Given the description of an element on the screen output the (x, y) to click on. 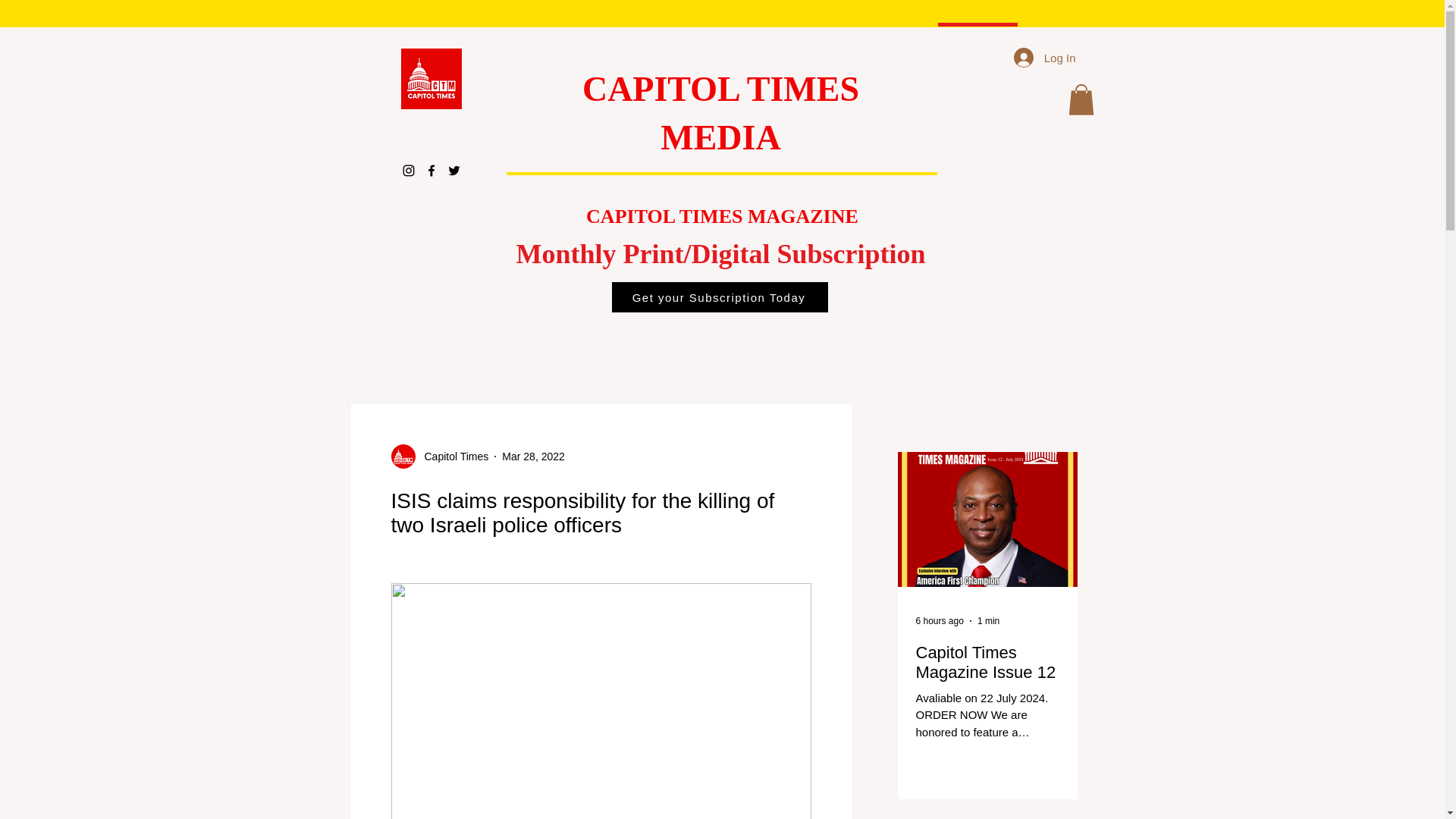
Capitol Times Magazine Issue 12 (987, 662)
Get your Subscription Today (719, 296)
Capitol Times (440, 456)
Mar 28, 2022 (533, 456)
CAPITOL TIMES MEDIA (720, 113)
Log In (1044, 57)
1 min (987, 620)
Capitol Times (451, 456)
CAPITOL TIMES MAGAZINE (722, 216)
6 hours ago (939, 620)
